Given the description of an element on the screen output the (x, y) to click on. 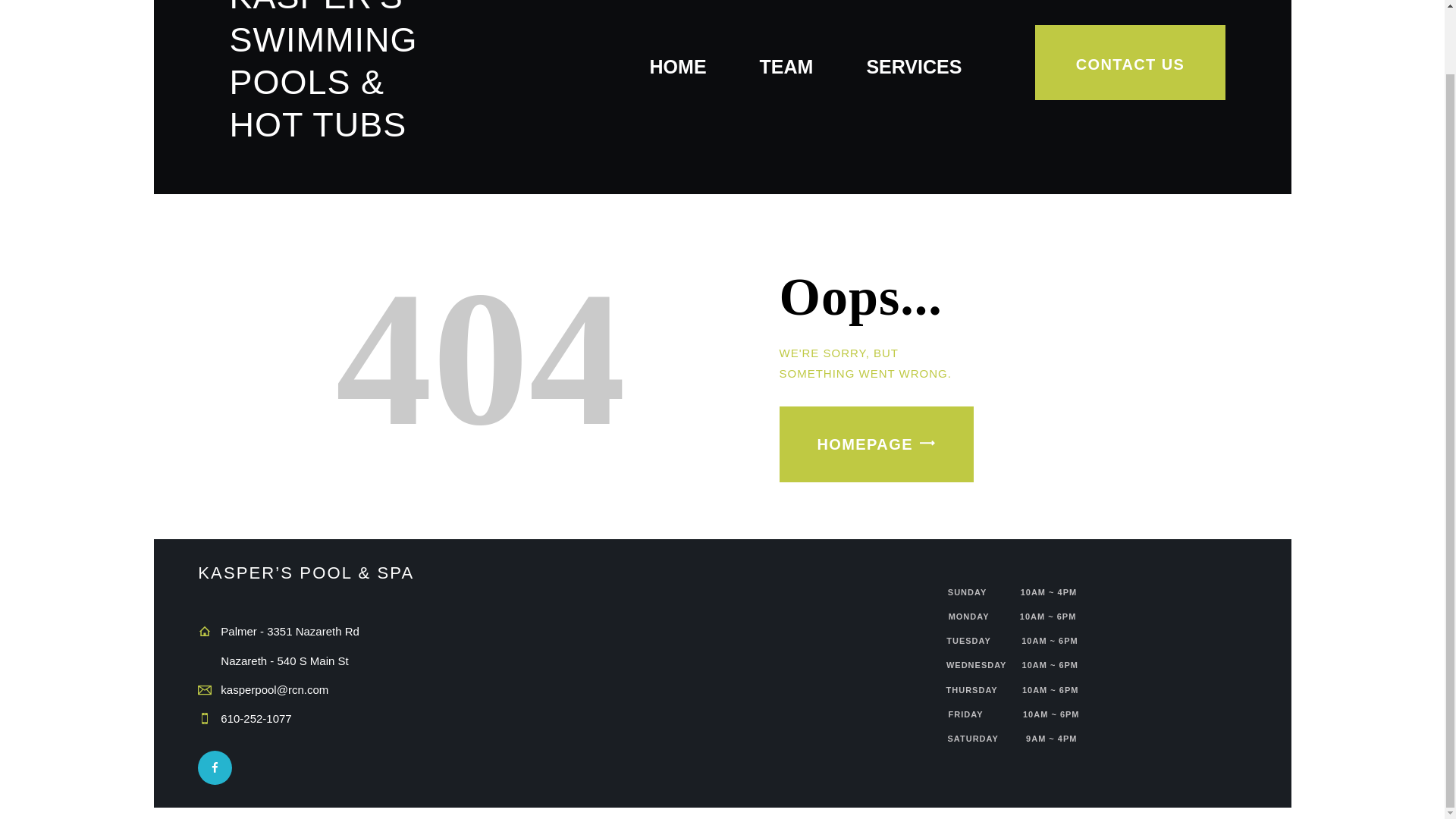
TEAM (786, 68)
HOME (677, 68)
CONTACT US (1130, 62)
HOMEPAGE (876, 444)
SERVICES (913, 68)
610-252-1077 (256, 717)
